Given the description of an element on the screen output the (x, y) to click on. 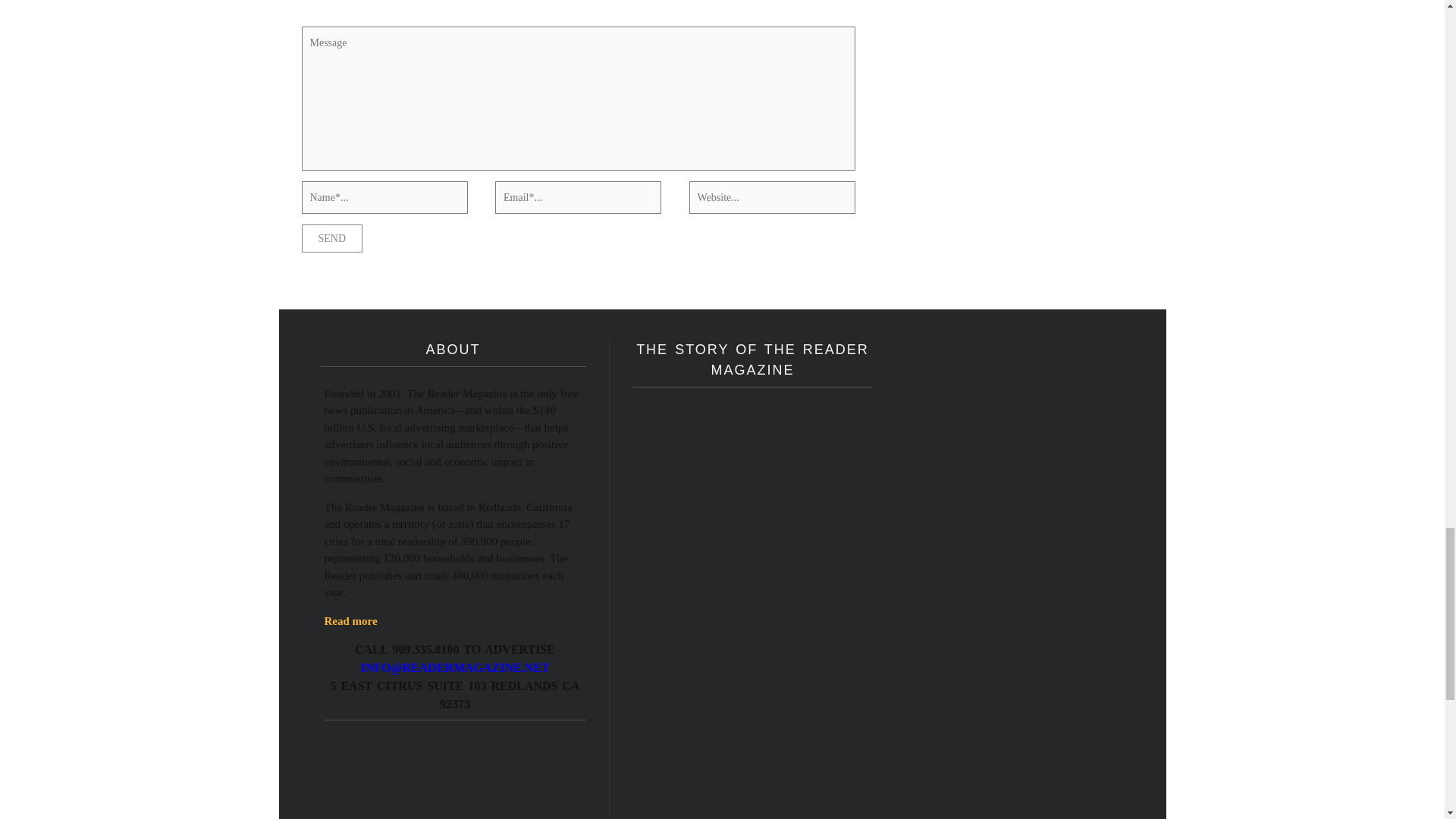
Send (331, 238)
